Given the description of an element on the screen output the (x, y) to click on. 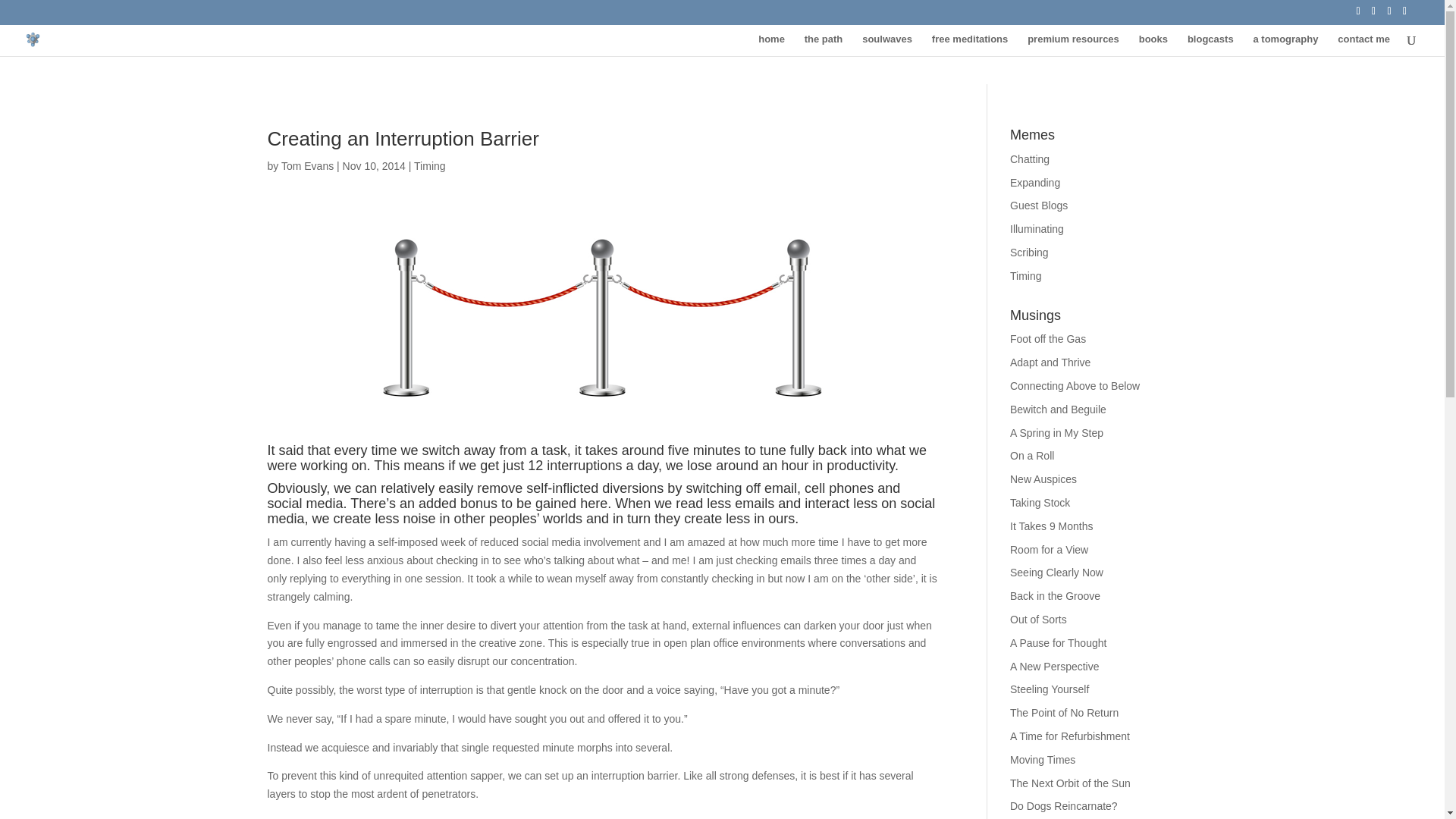
It Takes 9 Months (1051, 526)
Adapt and Thrive (1050, 362)
Tom Evans (307, 165)
Taking Stock (1040, 502)
Timing (1026, 275)
Illuminating (1037, 228)
Bewitch and Beguile (1058, 409)
Scribing (1029, 252)
Chatting (1029, 159)
Seeing Clearly Now (1056, 572)
Room for a View (1048, 549)
Creating an Interruption Barrier (402, 138)
New Auspices (1043, 479)
free meditations (969, 45)
books (1152, 45)
